Given the description of an element on the screen output the (x, y) to click on. 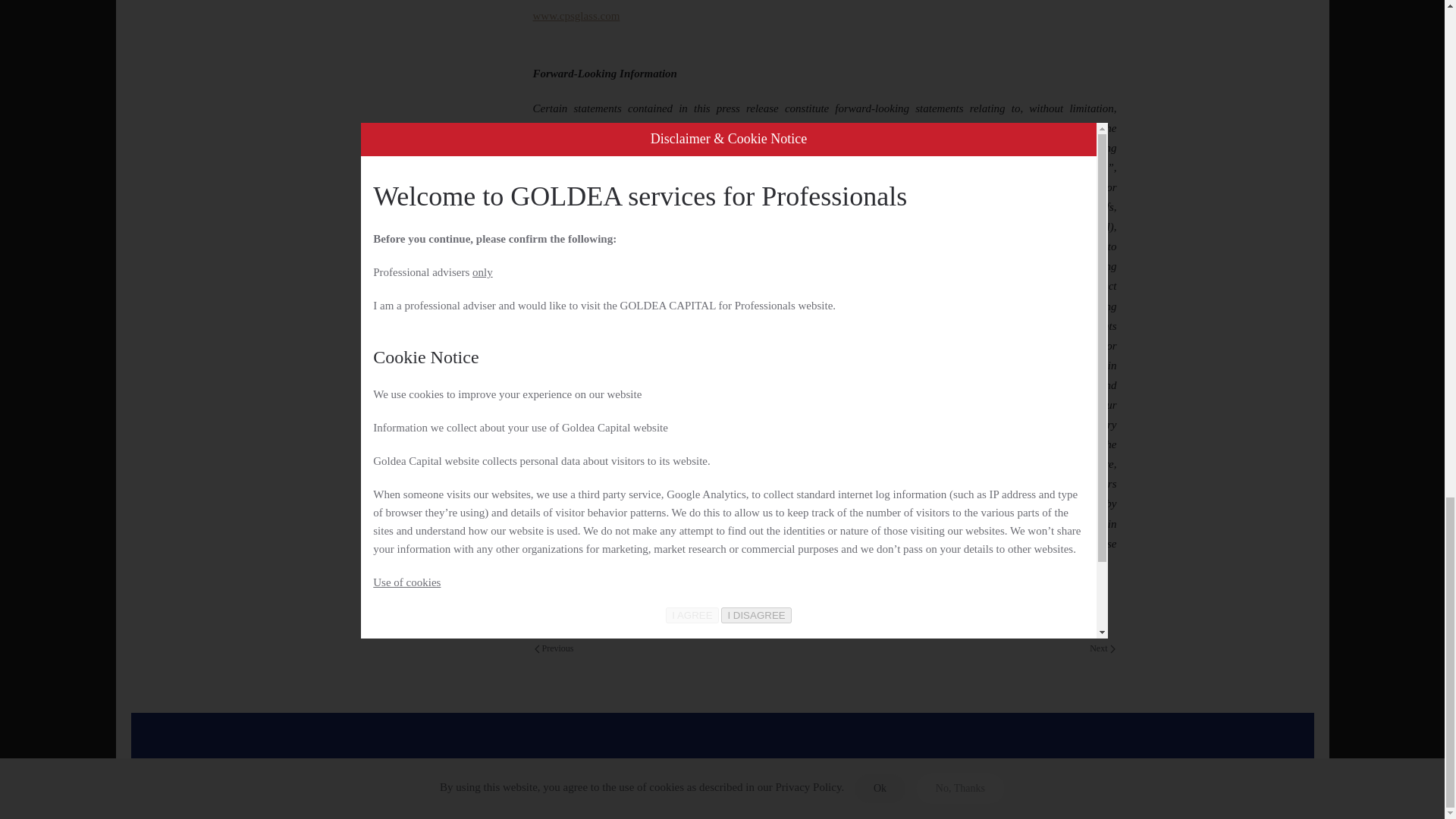
www.cpsglass.com (576, 15)
Next (1101, 649)
Previous (553, 649)
